Given the description of an element on the screen output the (x, y) to click on. 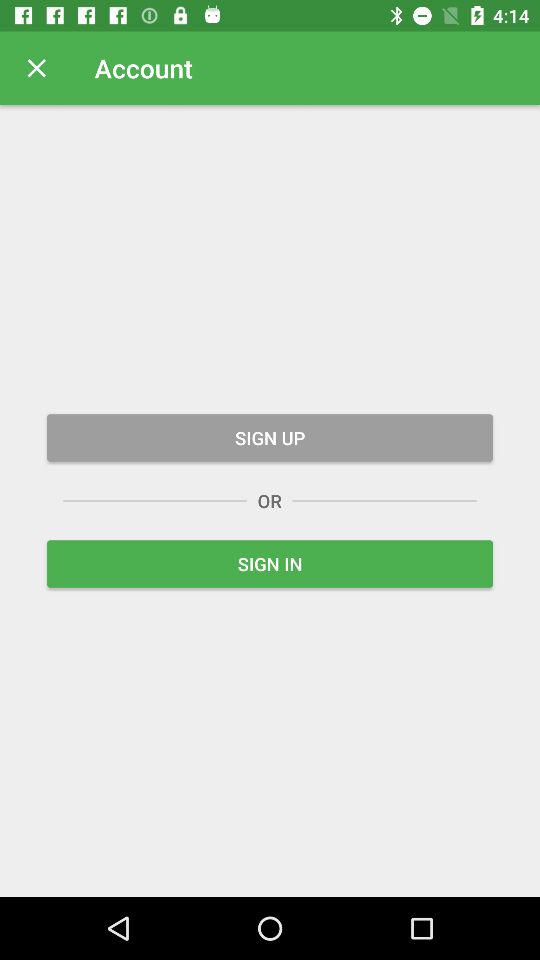
turn off the icon above sign up item (36, 68)
